Given the description of an element on the screen output the (x, y) to click on. 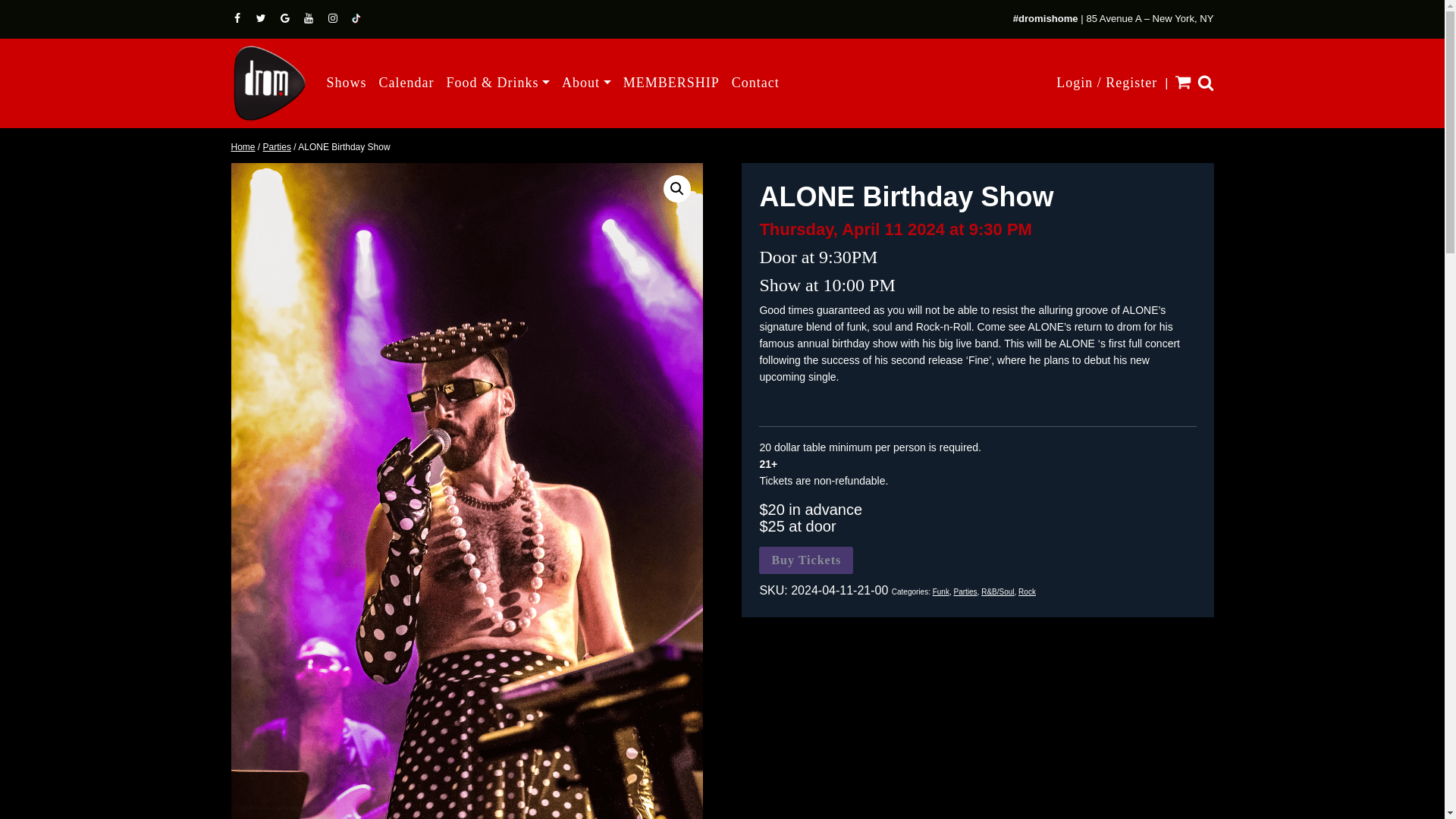
Parties (964, 592)
About (586, 82)
google (286, 18)
twitter (261, 18)
Calendar (406, 82)
instagram (334, 18)
Parties (277, 146)
Rock (1026, 592)
facebook (238, 18)
